Given the description of an element on the screen output the (x, y) to click on. 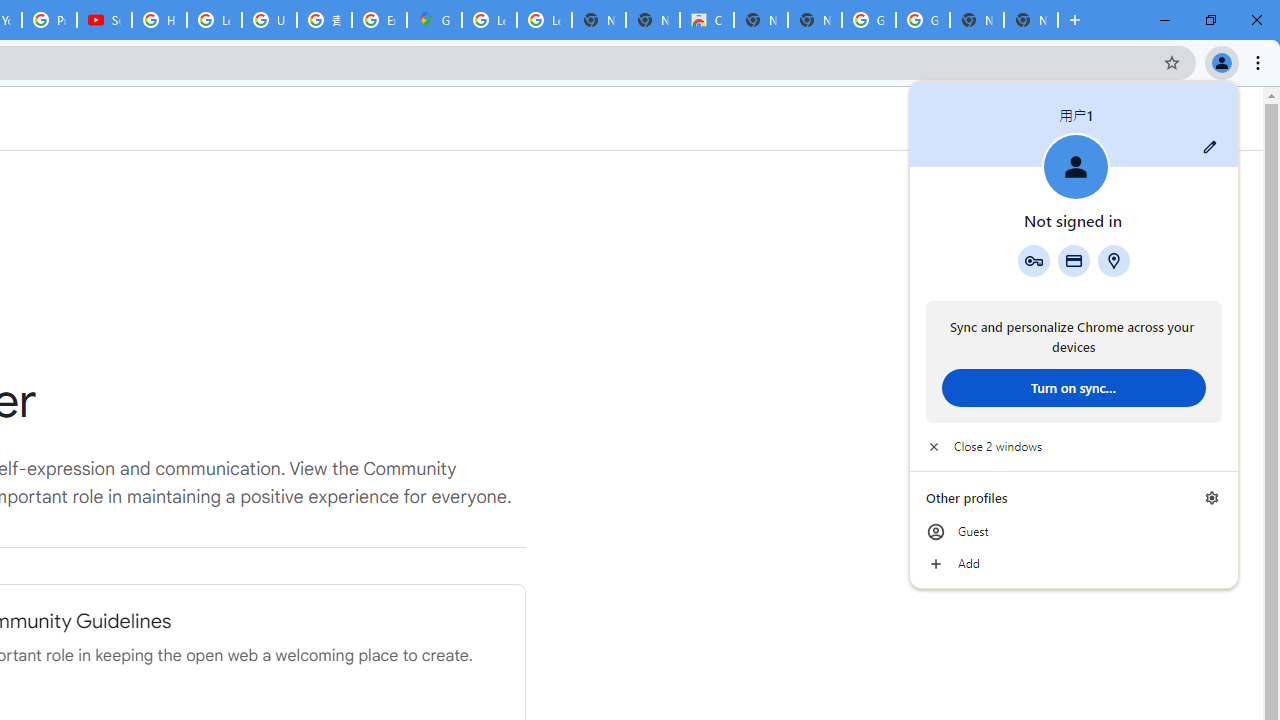
Google Images (868, 20)
Subscriptions - YouTube (103, 20)
Add (1073, 563)
New Tab (1030, 20)
Google Maps (434, 20)
Payment methods (1074, 260)
